Given the description of an element on the screen output the (x, y) to click on. 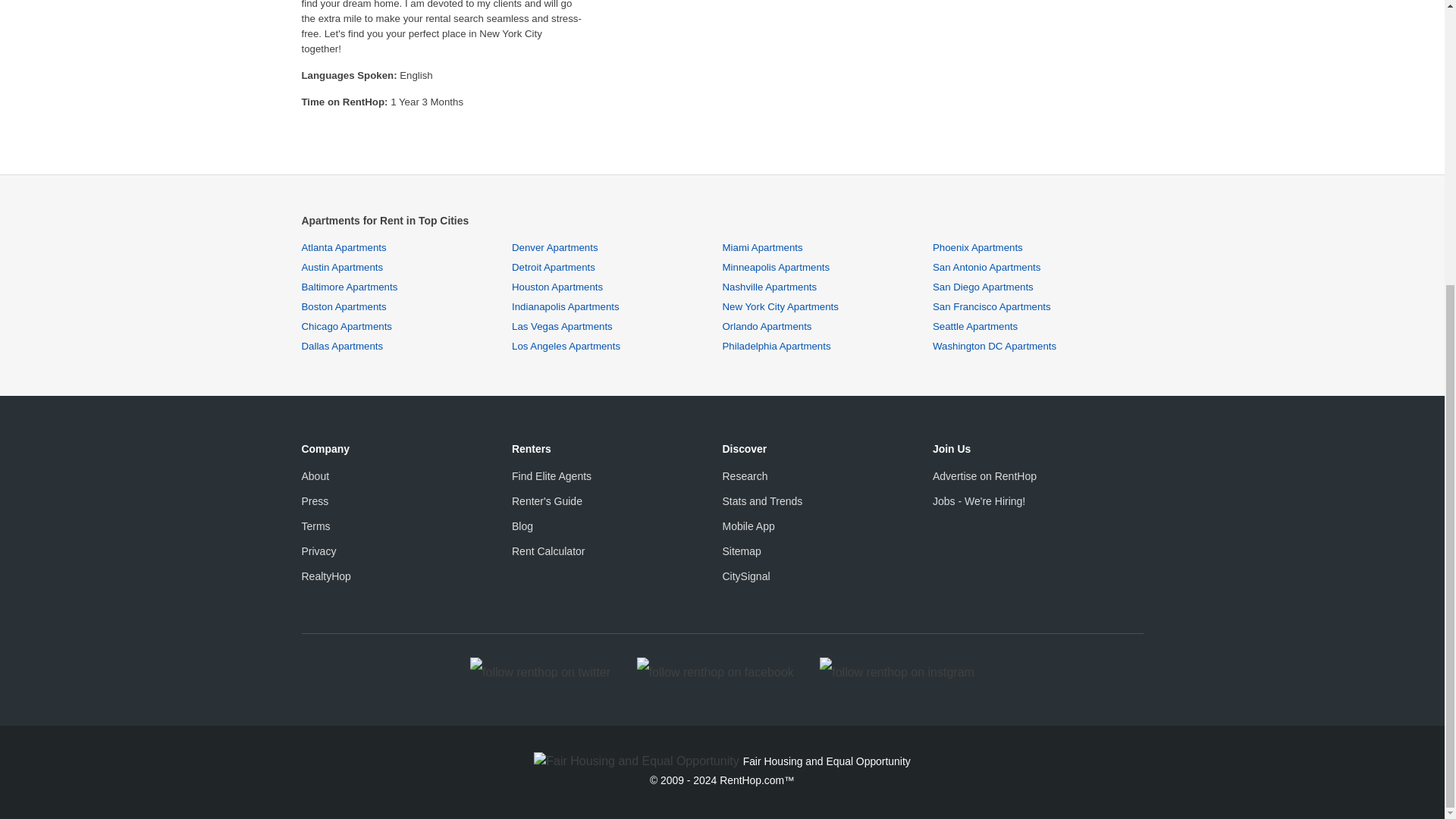
New York City Apartments (780, 306)
Detroit Apartments (553, 266)
Austin Apartments (342, 266)
Atlanta Apartments (344, 247)
Philadelphia Apartments (775, 346)
Las Vegas Apartments (562, 326)
Minneapolis Apartments (775, 266)
Boston Apartments (344, 306)
Baltimore Apartments (349, 286)
Dallas Apartments (342, 346)
Nashville Apartments (769, 286)
Indianapolis Apartments (566, 306)
Houston Apartments (557, 286)
Miami Apartments (762, 247)
Denver Apartments (555, 247)
